Given the description of an element on the screen output the (x, y) to click on. 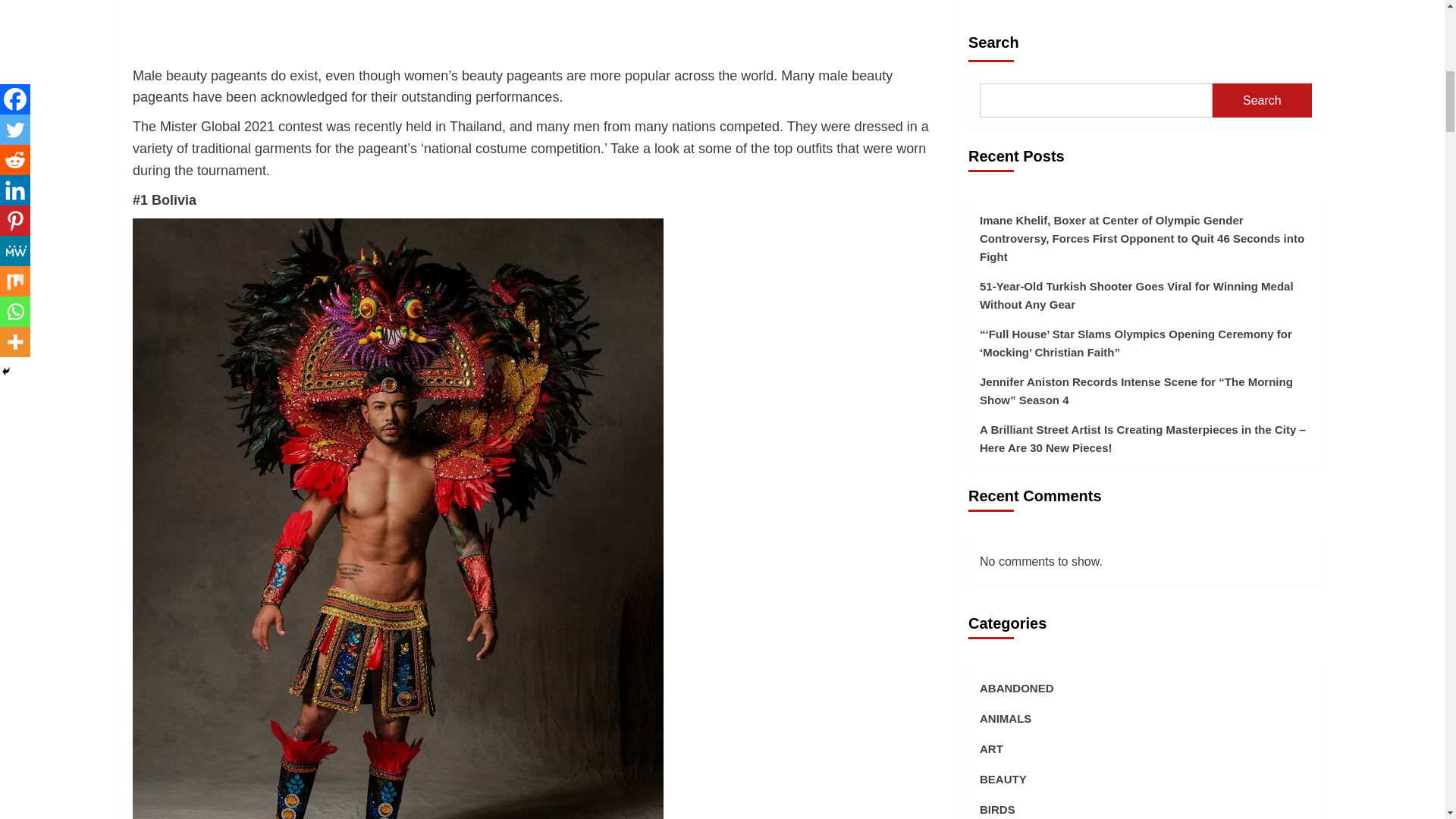
Advertisement (538, 32)
